Given the description of an element on the screen output the (x, y) to click on. 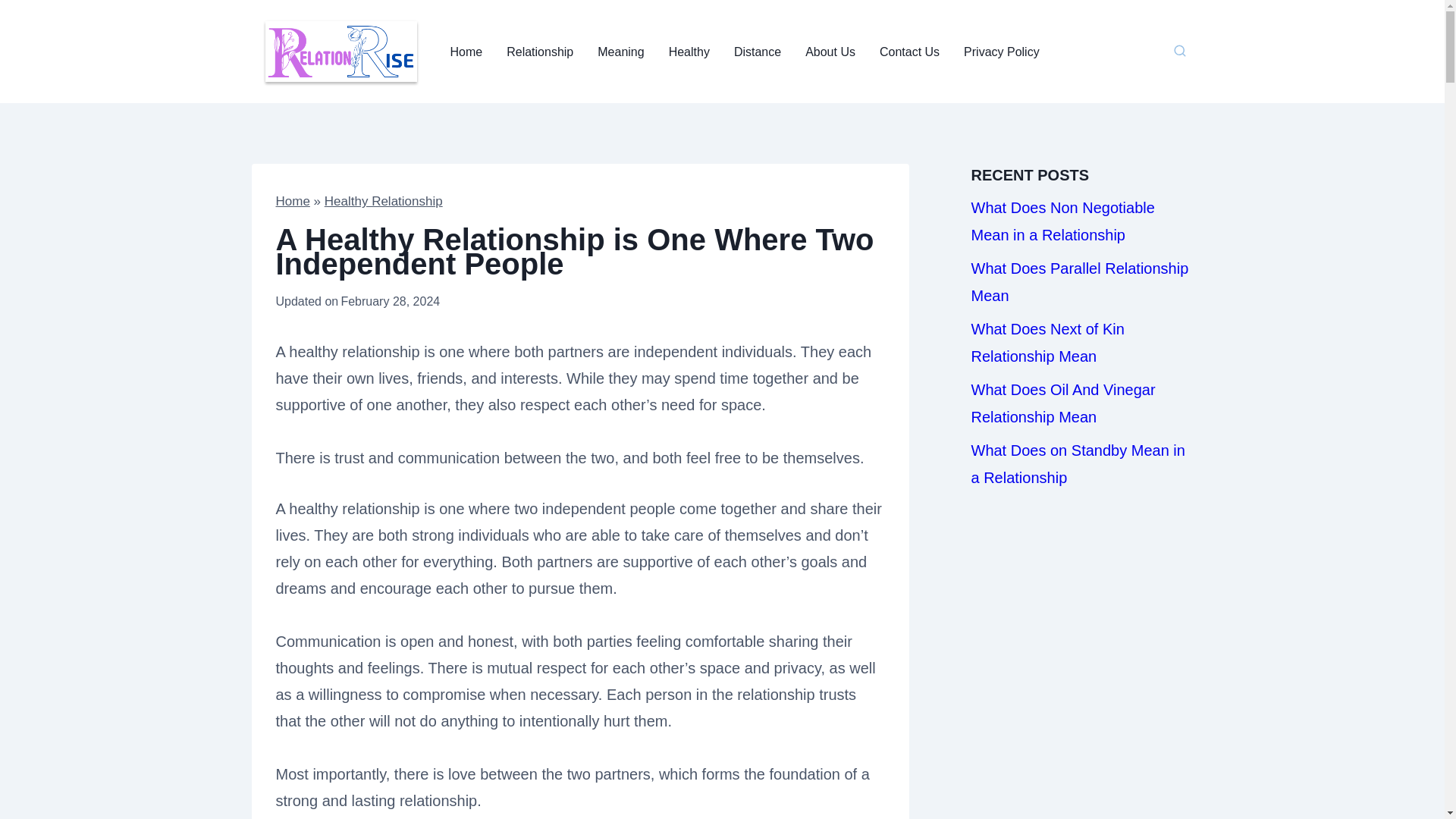
About Us (830, 51)
Healthy (689, 51)
Relationship (540, 51)
Home (293, 201)
Meaning (620, 51)
Home (466, 51)
Healthy Relationship (383, 201)
Privacy Policy (1001, 51)
Distance (757, 51)
Contact Us (909, 51)
